Given the description of an element on the screen output the (x, y) to click on. 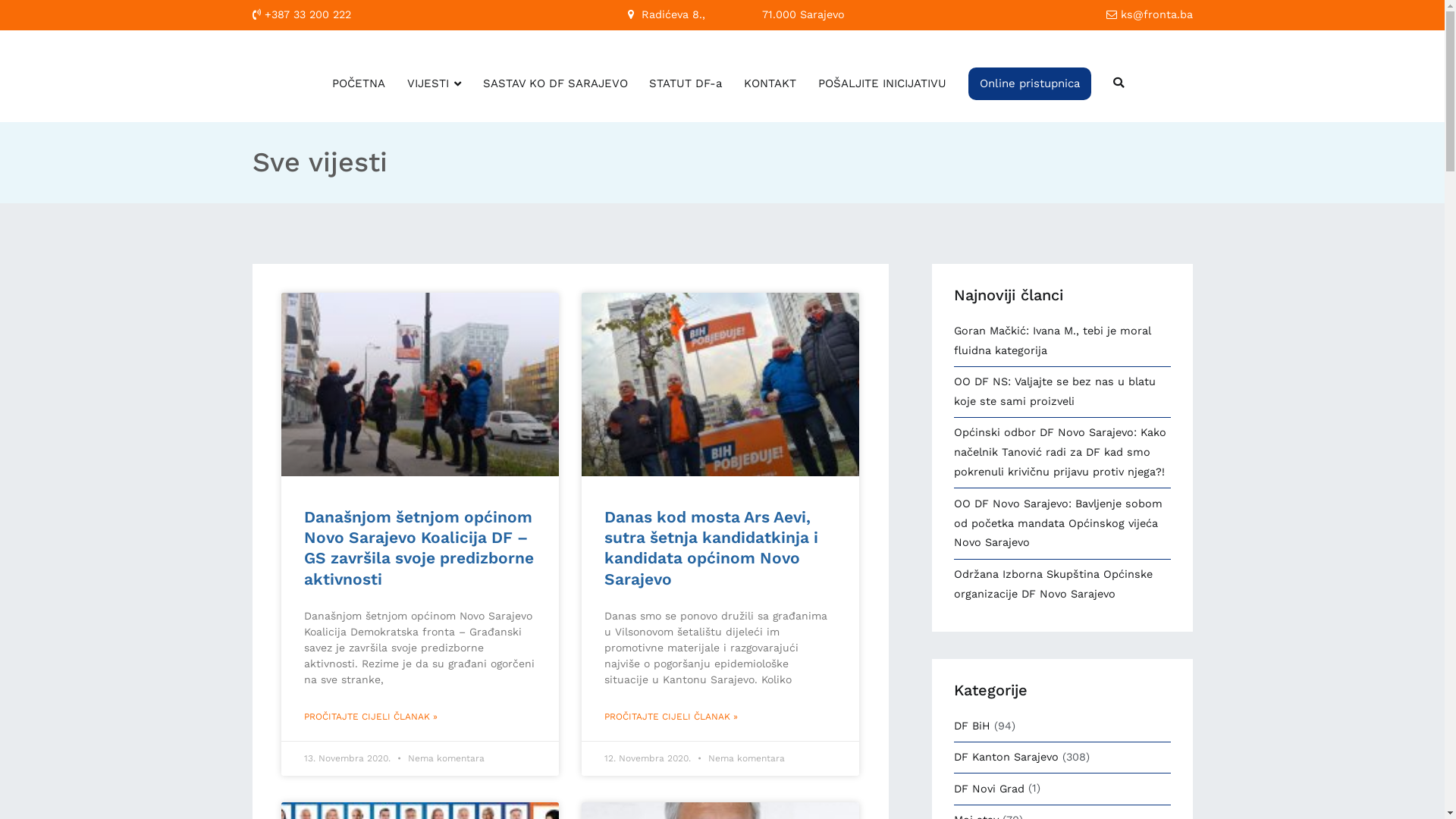
DF Kanton Sarajevo Element type: text (1005, 757)
DF BiH Element type: text (971, 726)
SASTAV KO DF SARAJEVO Element type: text (555, 83)
VIJESTI Element type: text (434, 83)
KONTAKT Element type: text (769, 83)
DF Novi Grad Element type: text (988, 788)
STATUT DF-a Element type: text (685, 83)
Pretraga Element type: text (33, 13)
Kantonalni odbor Demokratske fronte Sarajevo Element type: text (887, 66)
Online pristupnica Element type: text (1029, 83)
